Given the description of an element on the screen output the (x, y) to click on. 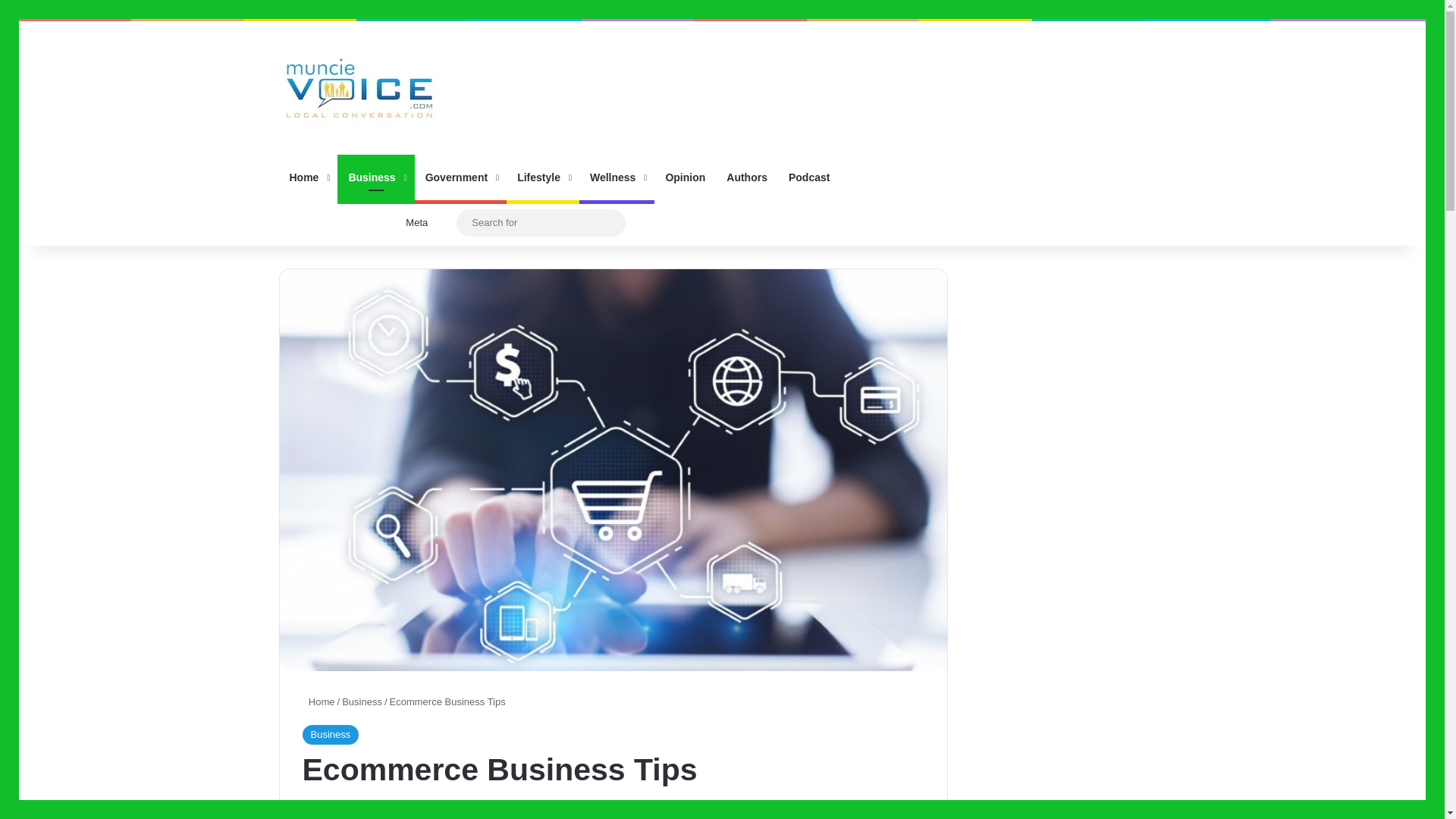
Home (308, 176)
Search for (610, 222)
Business (329, 734)
Search for (541, 221)
Opinion (684, 176)
Podcast (808, 176)
Authors (746, 176)
Business (375, 176)
Business (361, 701)
Wellness (616, 176)
